Given the description of an element on the screen output the (x, y) to click on. 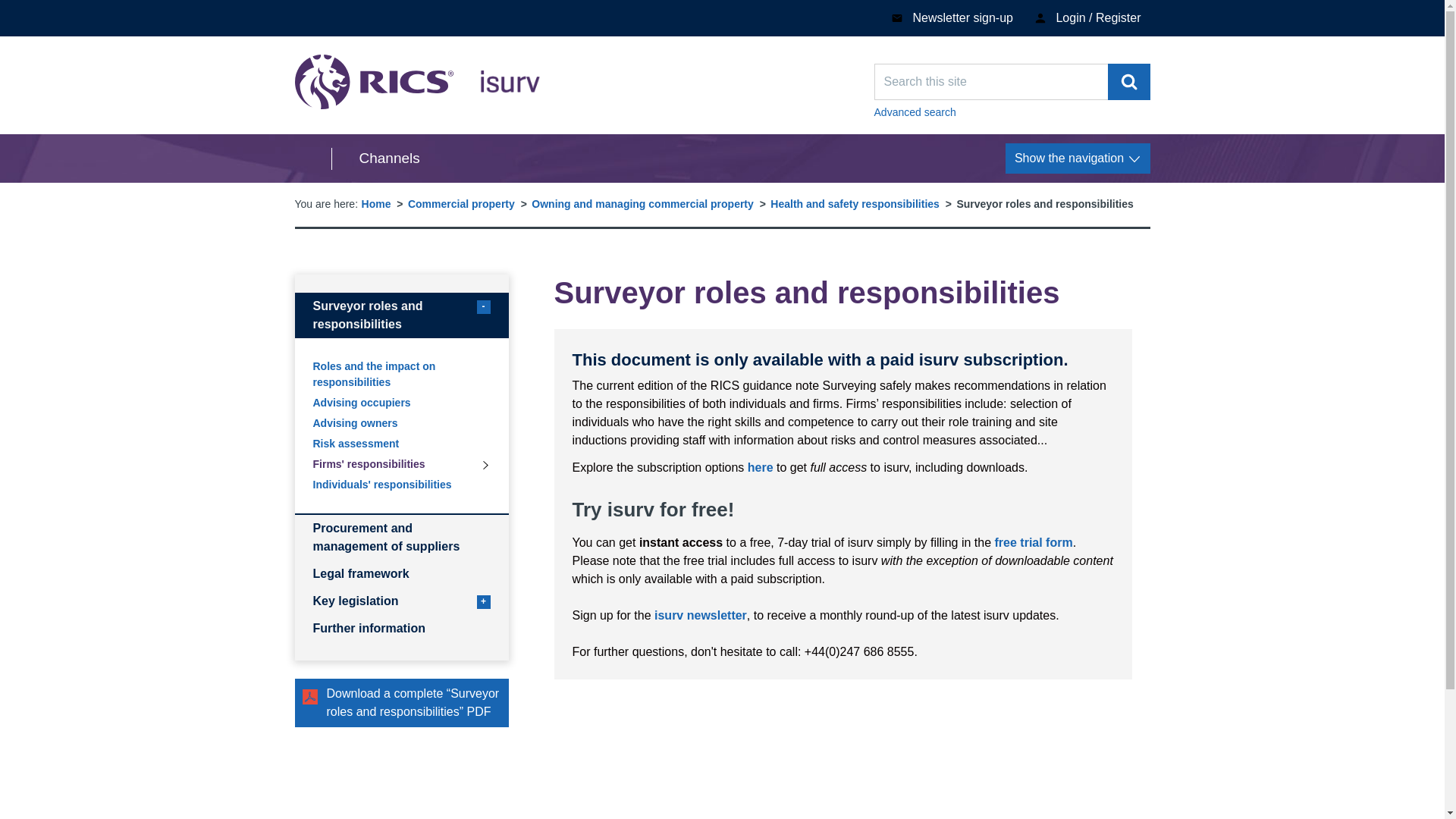
Commercial property (461, 203)
Roles and the impact on responsibilities (401, 374)
Legal framework (401, 574)
Search (1128, 81)
Advanced search (401, 315)
Risk assessment (1012, 112)
Health and safety responsibilities (417, 81)
Show the navigation (401, 444)
Channels (854, 203)
free trial form (1078, 158)
Procurement and management of suppliers (374, 158)
Individuals' responsibilities (1033, 542)
isurv newsletter (401, 537)
